Given the description of an element on the screen output the (x, y) to click on. 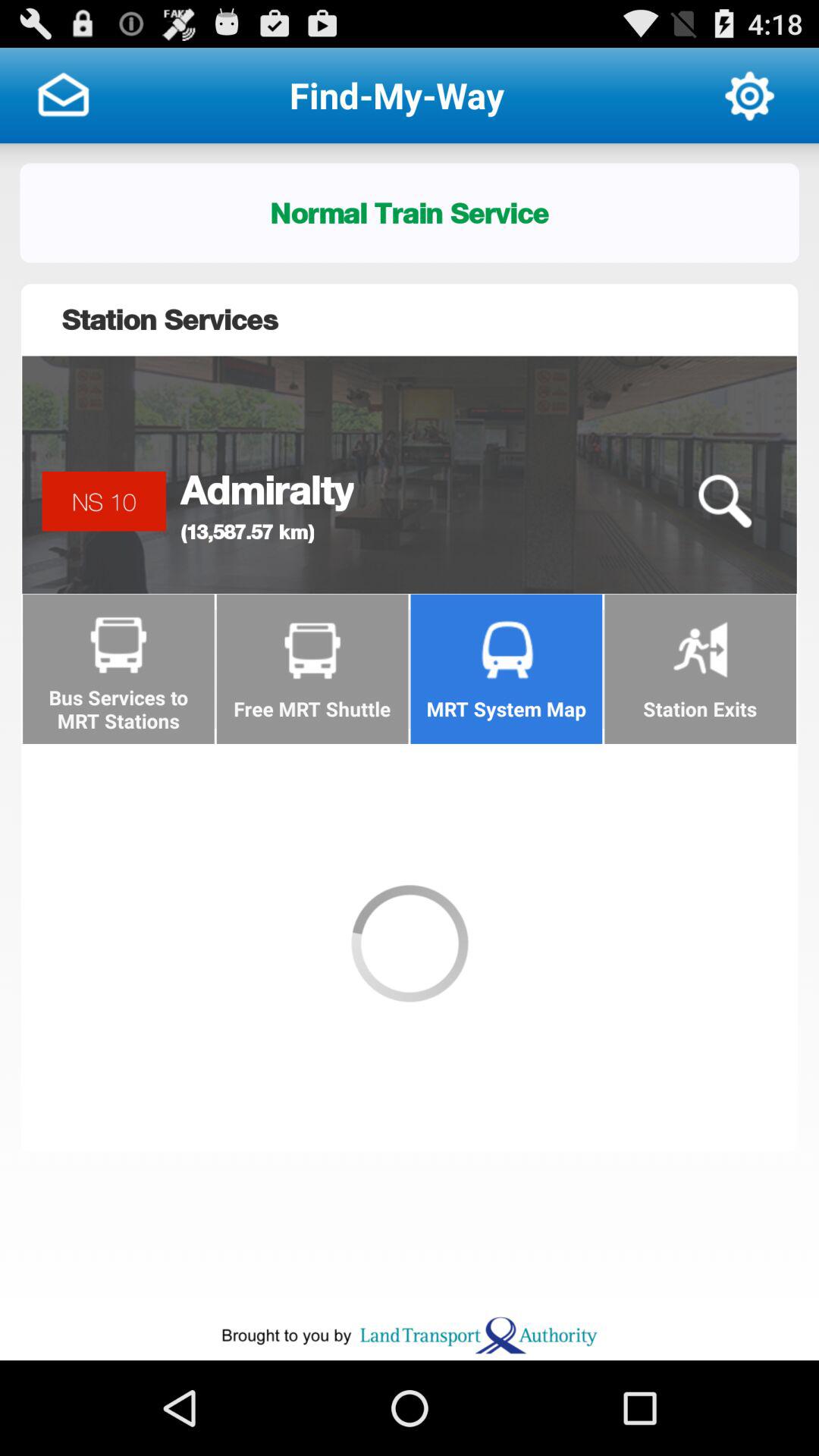
click the icon next to the find-my-way icon (62, 95)
